Given the description of an element on the screen output the (x, y) to click on. 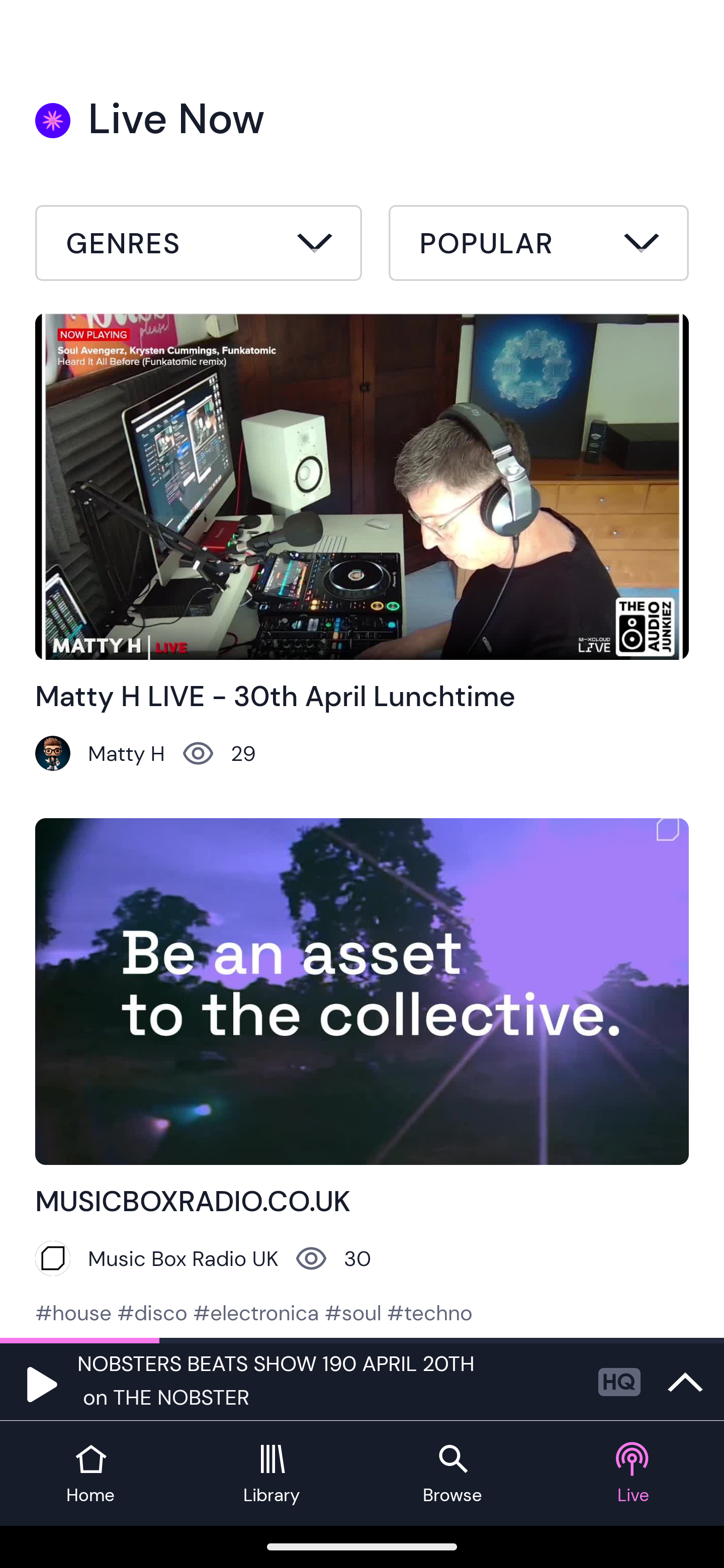
Filter by button All (198, 245)
Sort by button Popular (538, 245)
Home tab Home (90, 1473)
Library tab Library (271, 1473)
Browse tab Browse (452, 1473)
Live tab Live (633, 1473)
